Given the description of an element on the screen output the (x, y) to click on. 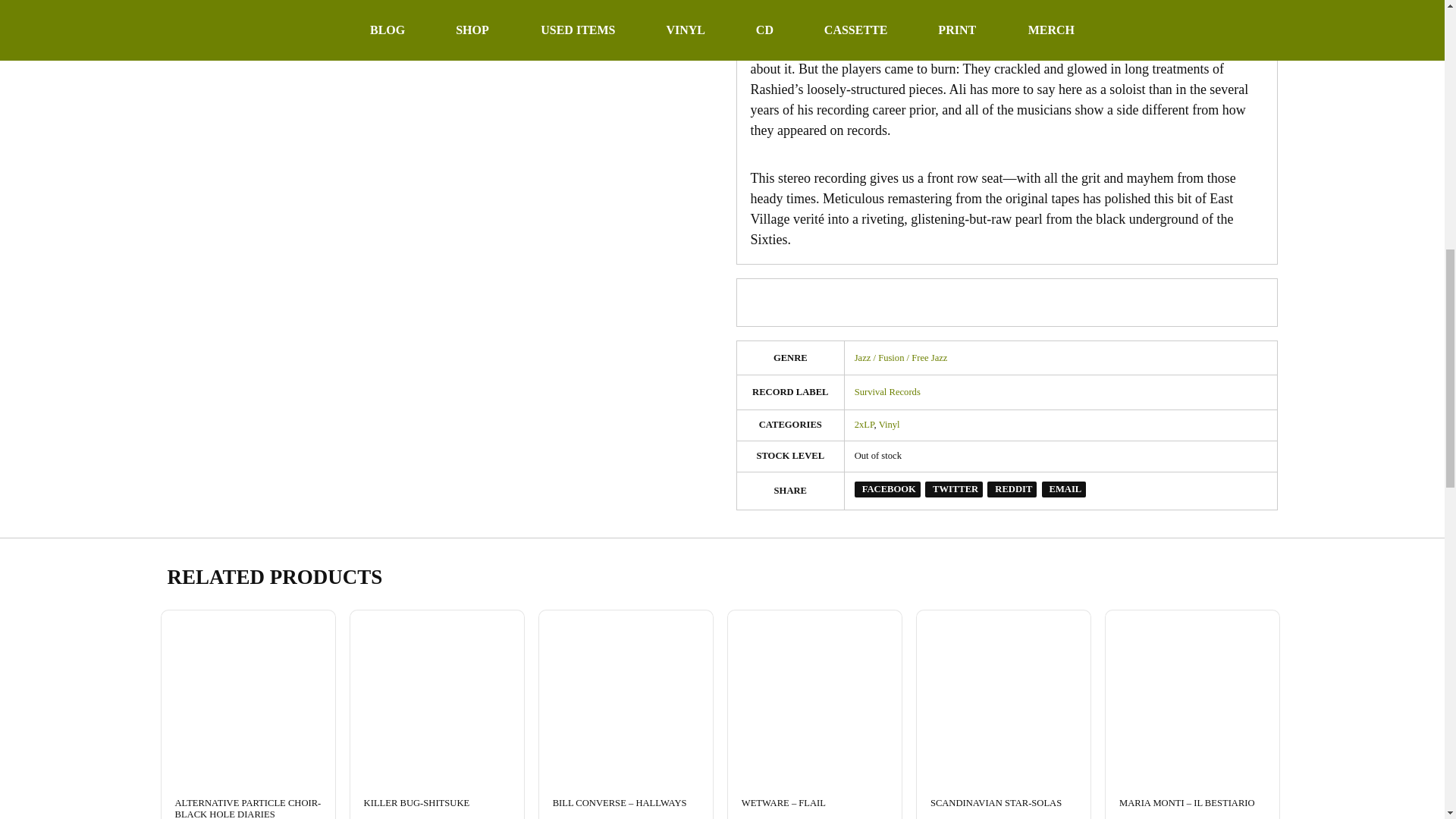
Share on Twitter (953, 489)
Share on Reddit (1011, 489)
Killer Bug-Shitsuke (437, 696)
Share via Email (1064, 489)
Scandinavian Star-Solas (1003, 696)
Alternative Particle Choir-Black Hole Diaries (247, 696)
Share on Facebook (887, 489)
